Given the description of an element on the screen output the (x, y) to click on. 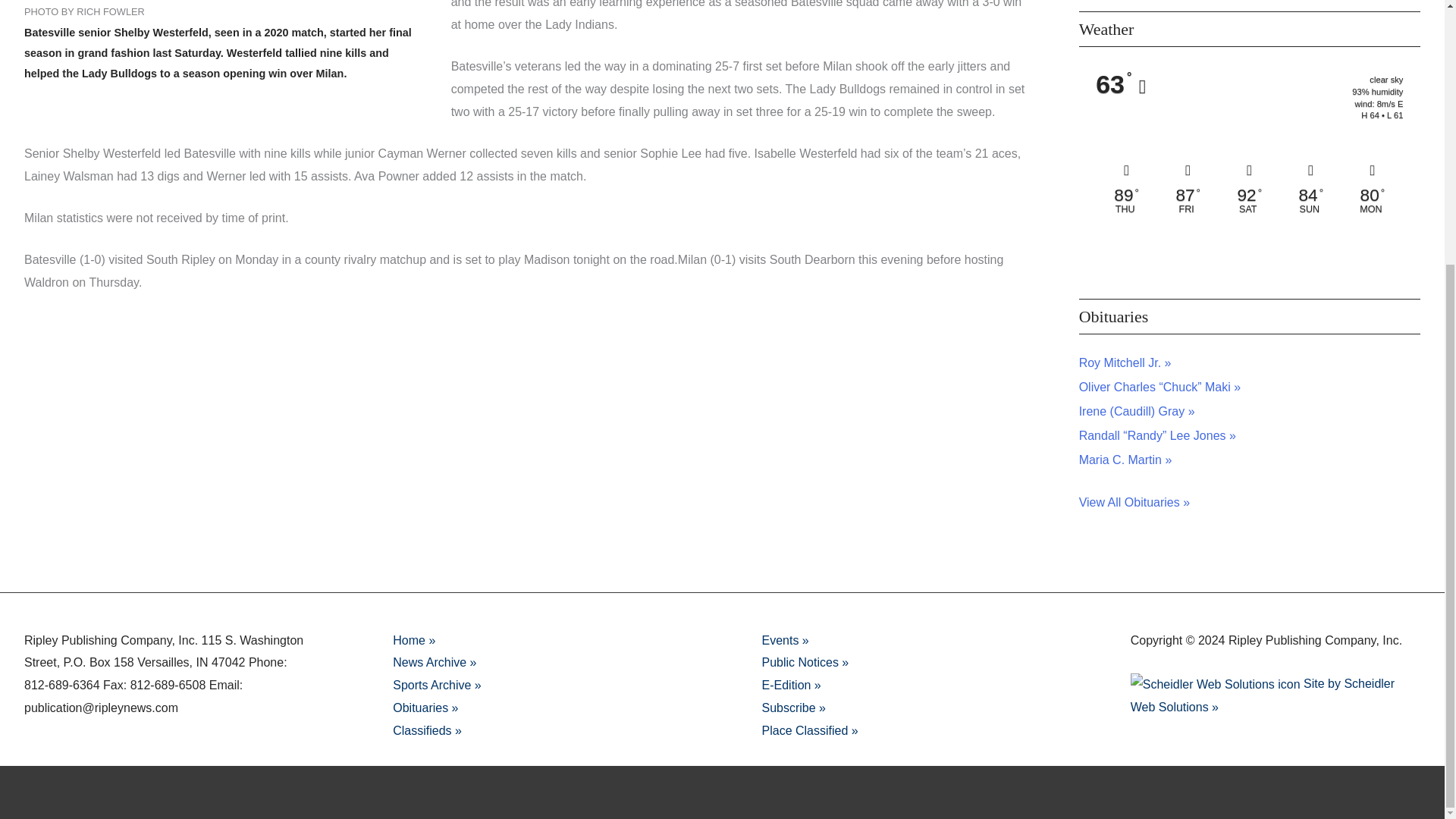
Maria C. Martin (1125, 459)
Roy Mitchell Jr. (1125, 362)
View All Obituaries (1133, 502)
